Given the description of an element on the screen output the (x, y) to click on. 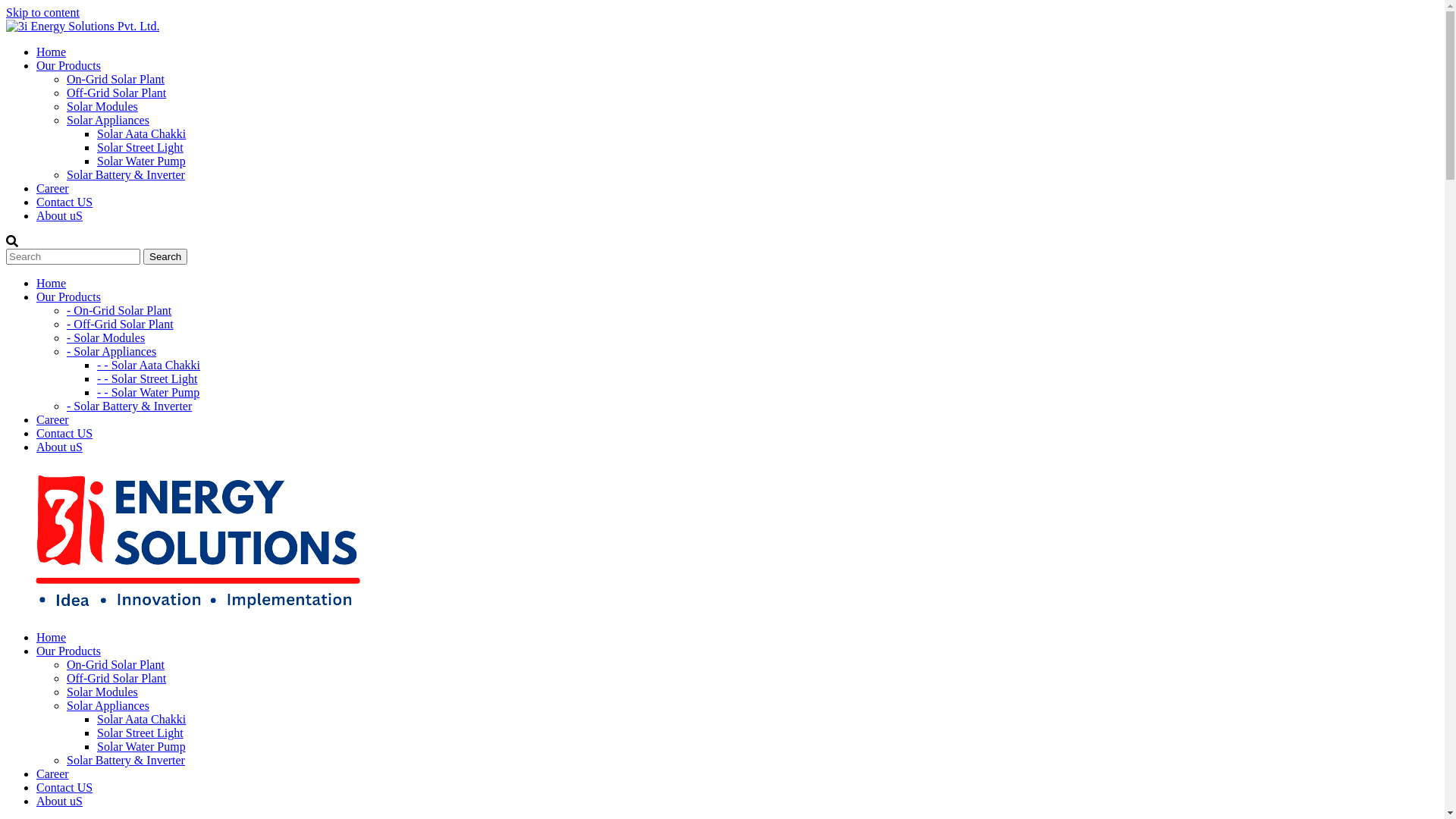
On-Grid Solar Plant Element type: text (115, 664)
Career Element type: text (52, 773)
Solar Aata Chakki Element type: text (141, 133)
Solar Appliances Element type: text (107, 705)
About uS Element type: text (59, 215)
Solar Street Light Element type: text (140, 147)
- Solar Modules Element type: text (105, 337)
Contact US Element type: text (64, 432)
Home Element type: text (50, 282)
Career Element type: text (52, 419)
- - Solar Street Light Element type: text (147, 378)
Skip to content Element type: text (42, 12)
- - Solar Water Pump Element type: text (148, 391)
Contact US Element type: text (64, 201)
Our Products Element type: text (68, 650)
Solar Modules Element type: text (102, 106)
- Solar Appliances Element type: text (111, 351)
Off-Grid Solar Plant Element type: text (116, 677)
- Off-Grid Solar Plant Element type: text (119, 323)
Our Products Element type: text (68, 296)
Solar Battery & Inverter Element type: text (125, 174)
Our Products Element type: text (68, 65)
Solar Water Pump Element type: text (141, 160)
Solar Aata Chakki Element type: text (141, 718)
Contact US Element type: text (64, 787)
Solar Appliances Element type: text (107, 119)
Solar Battery & Inverter Element type: text (125, 759)
- - Solar Aata Chakki Element type: text (148, 364)
- Solar Battery & Inverter Element type: text (128, 405)
Off-Grid Solar Plant Element type: text (116, 92)
On-Grid Solar Plant Element type: text (115, 78)
- On-Grid Solar Plant Element type: text (118, 310)
Solar Street Light Element type: text (140, 732)
Search Element type: text (165, 256)
Home Element type: text (50, 51)
Career Element type: text (52, 188)
Solar Water Pump Element type: text (141, 746)
Solar Modules Element type: text (102, 691)
About uS Element type: text (59, 800)
About uS Element type: text (59, 446)
Home Element type: text (50, 636)
